Given the description of an element on the screen output the (x, y) to click on. 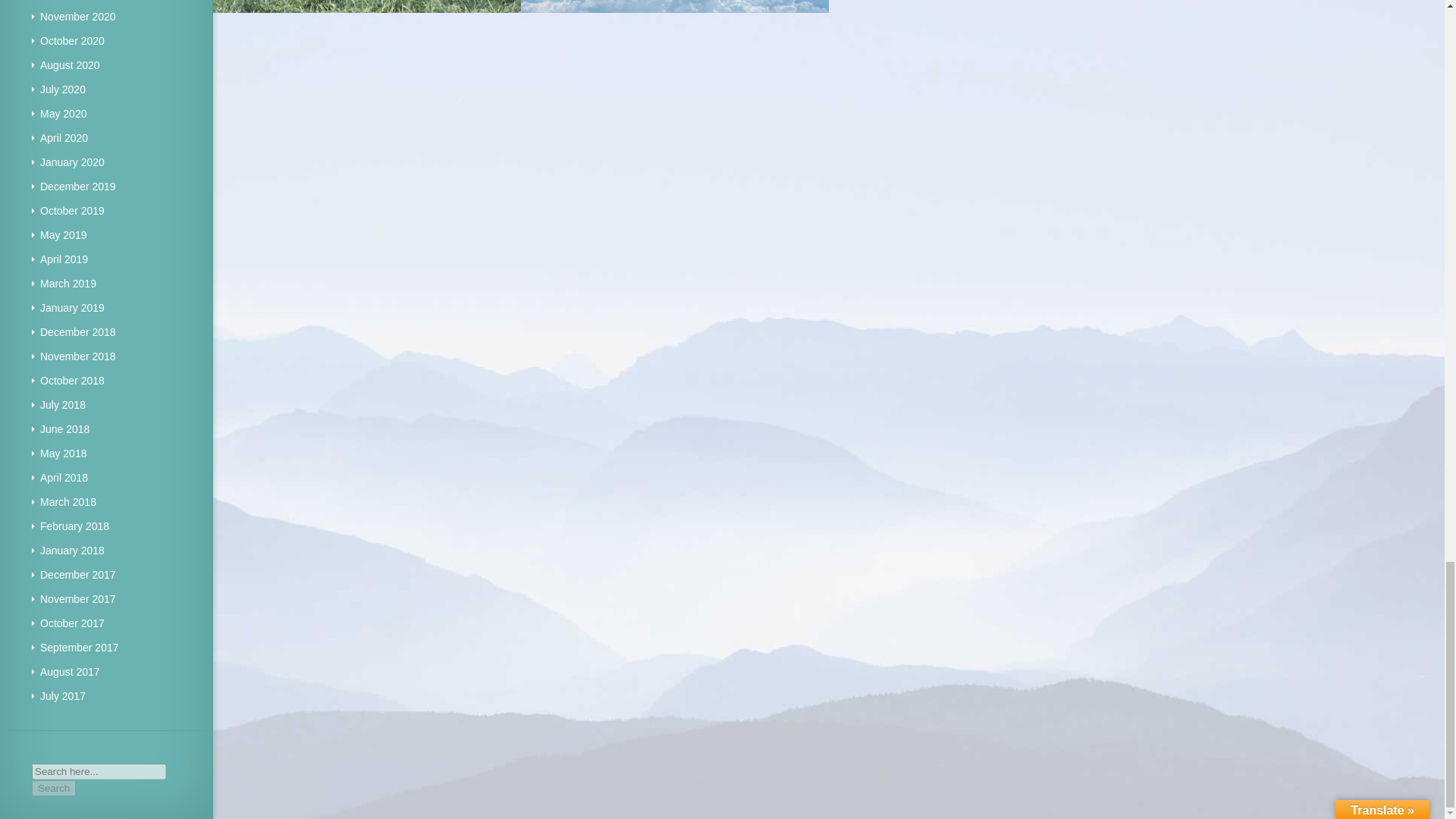
Search (53, 788)
Search (53, 788)
